Given the description of an element on the screen output the (x, y) to click on. 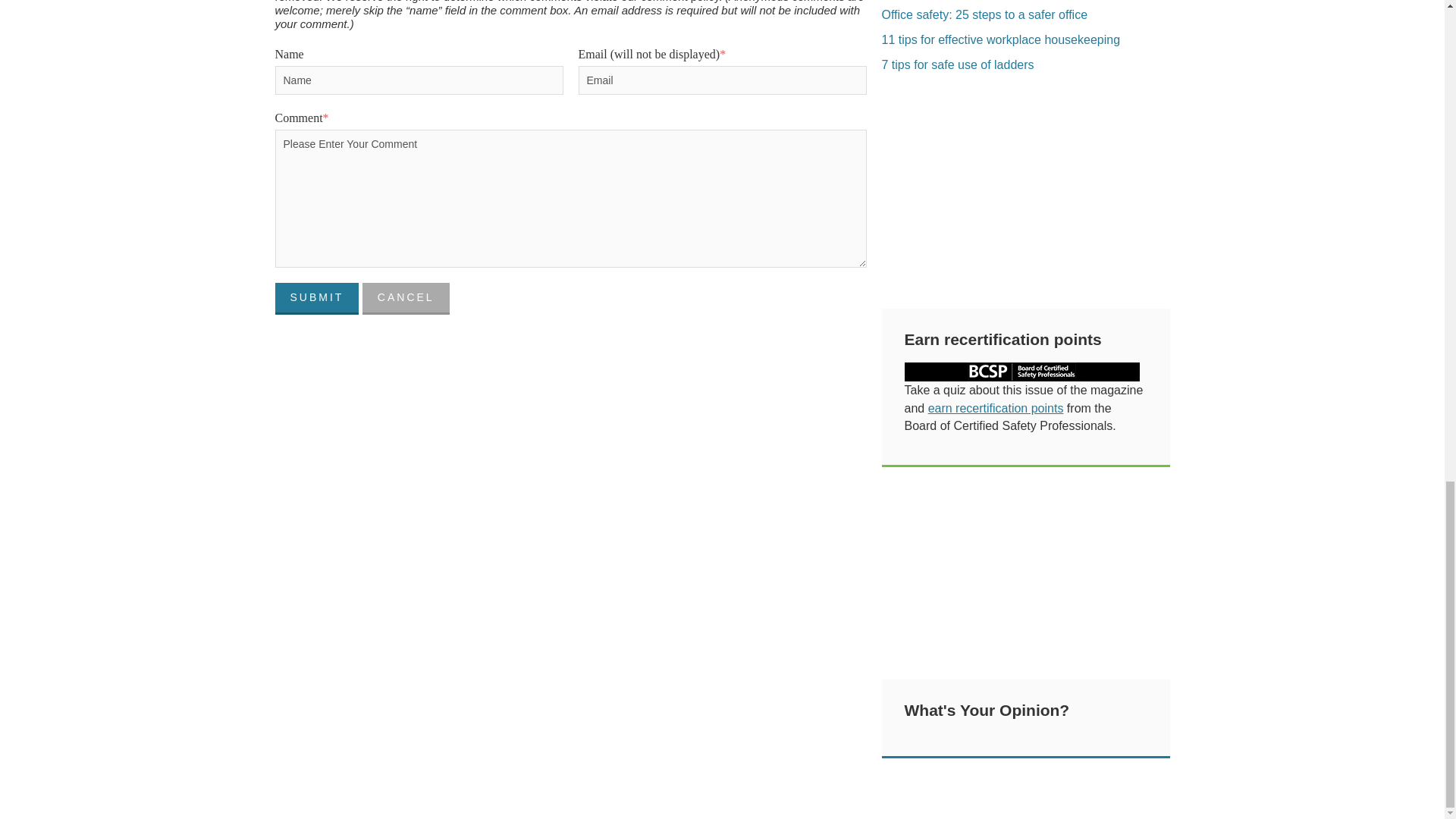
Name (418, 80)
Cancel (405, 298)
Email (722, 80)
Submit (316, 298)
